Given the description of an element on the screen output the (x, y) to click on. 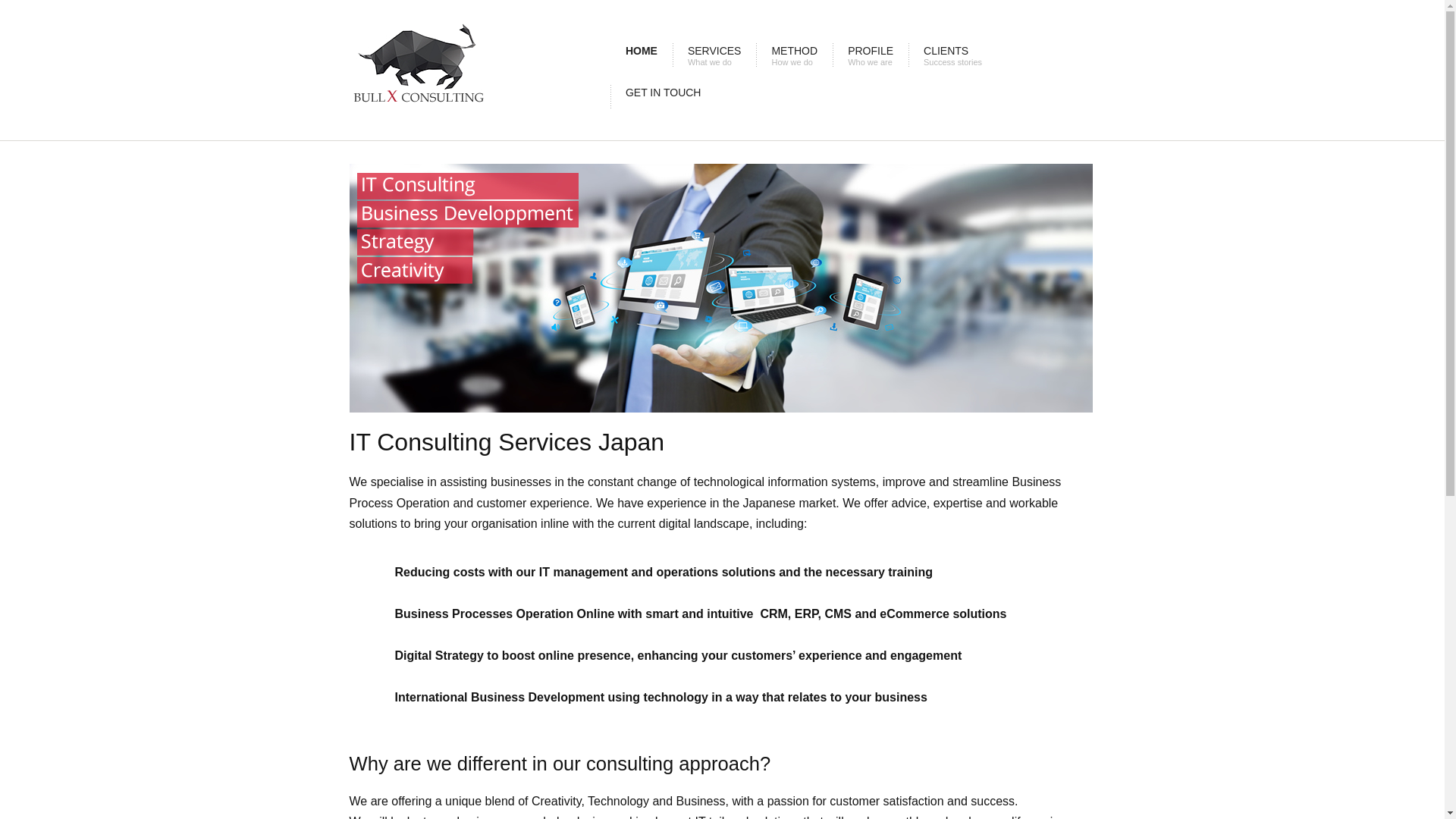
PROFILE
Who we are Element type: text (870, 54)
CLIENTS
Success stories Element type: text (952, 54)
SERVICES
What we do Element type: text (714, 54)
HOME Element type: text (641, 54)
GET IN TOUCH Element type: text (663, 96)
METHOD
How we do Element type: text (794, 54)
